Given the description of an element on the screen output the (x, y) to click on. 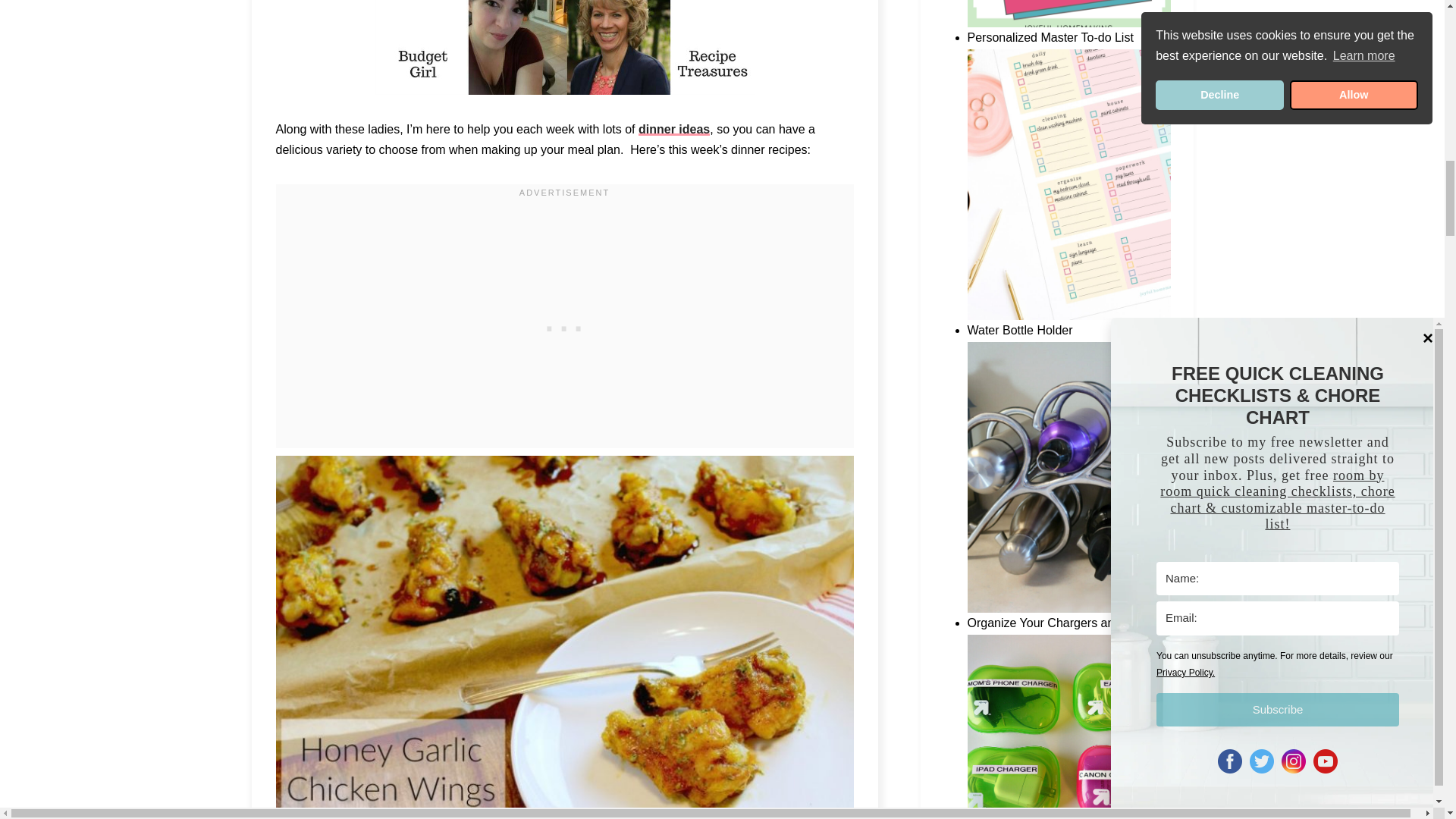
Personalized Master Grocery Lists (1069, 22)
Organize Your Chargers and Cords (1069, 726)
